Given the description of an element on the screen output the (x, y) to click on. 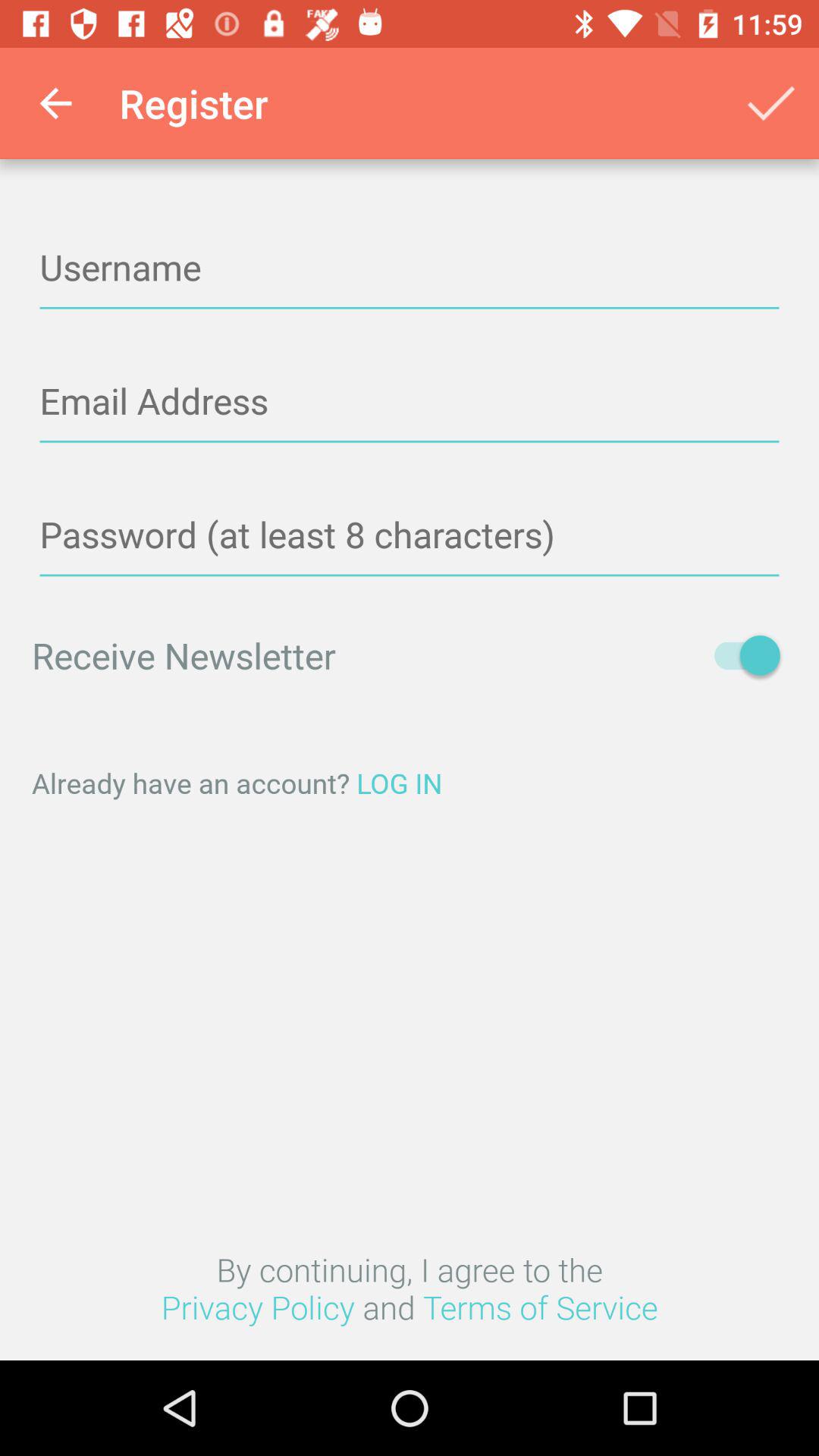
swipe to the by continuing i icon (409, 1287)
